Given the description of an element on the screen output the (x, y) to click on. 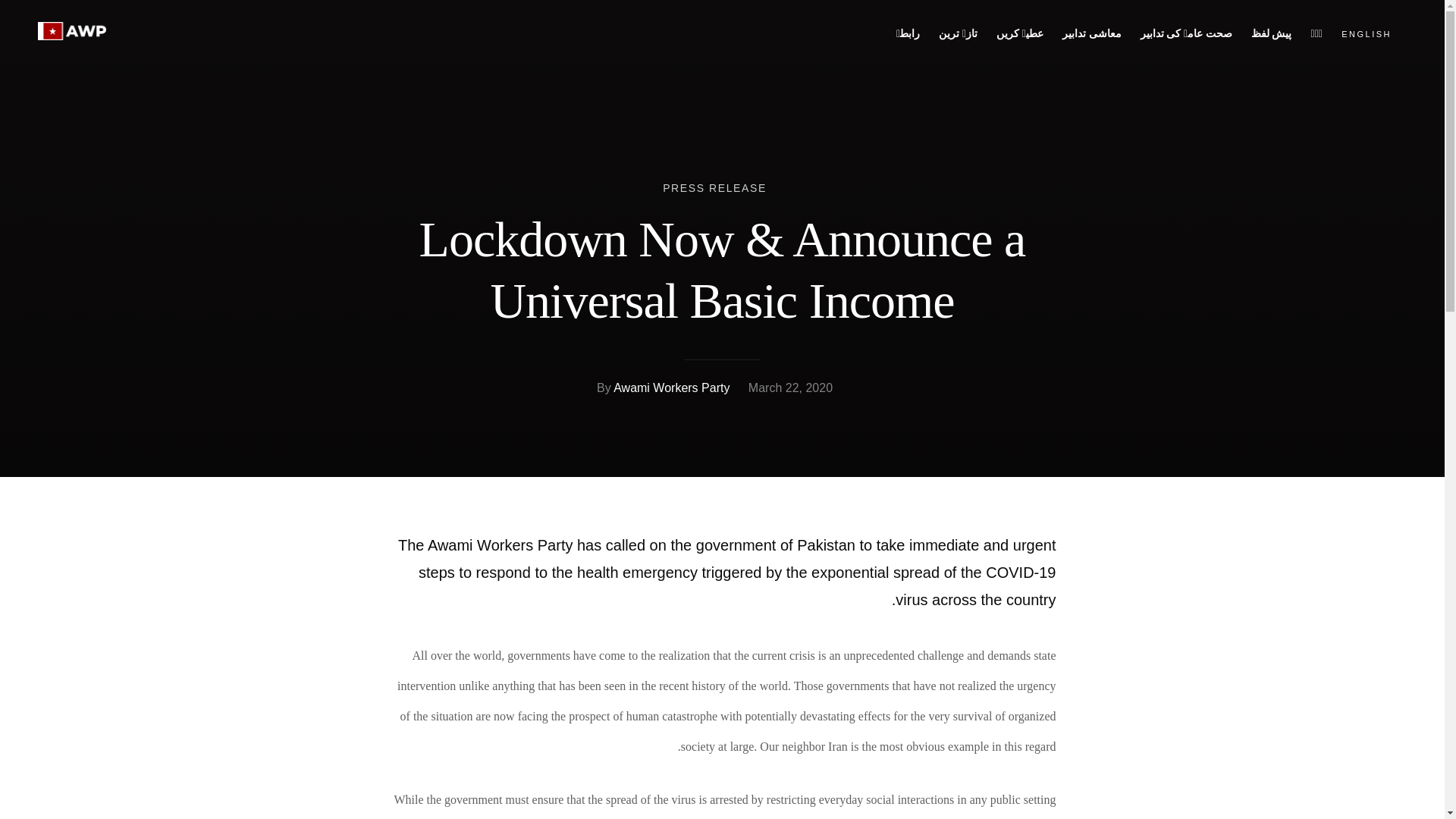
ENGLISH (1365, 33)
PRESS RELEASE (714, 187)
